Given the description of an element on the screen output the (x, y) to click on. 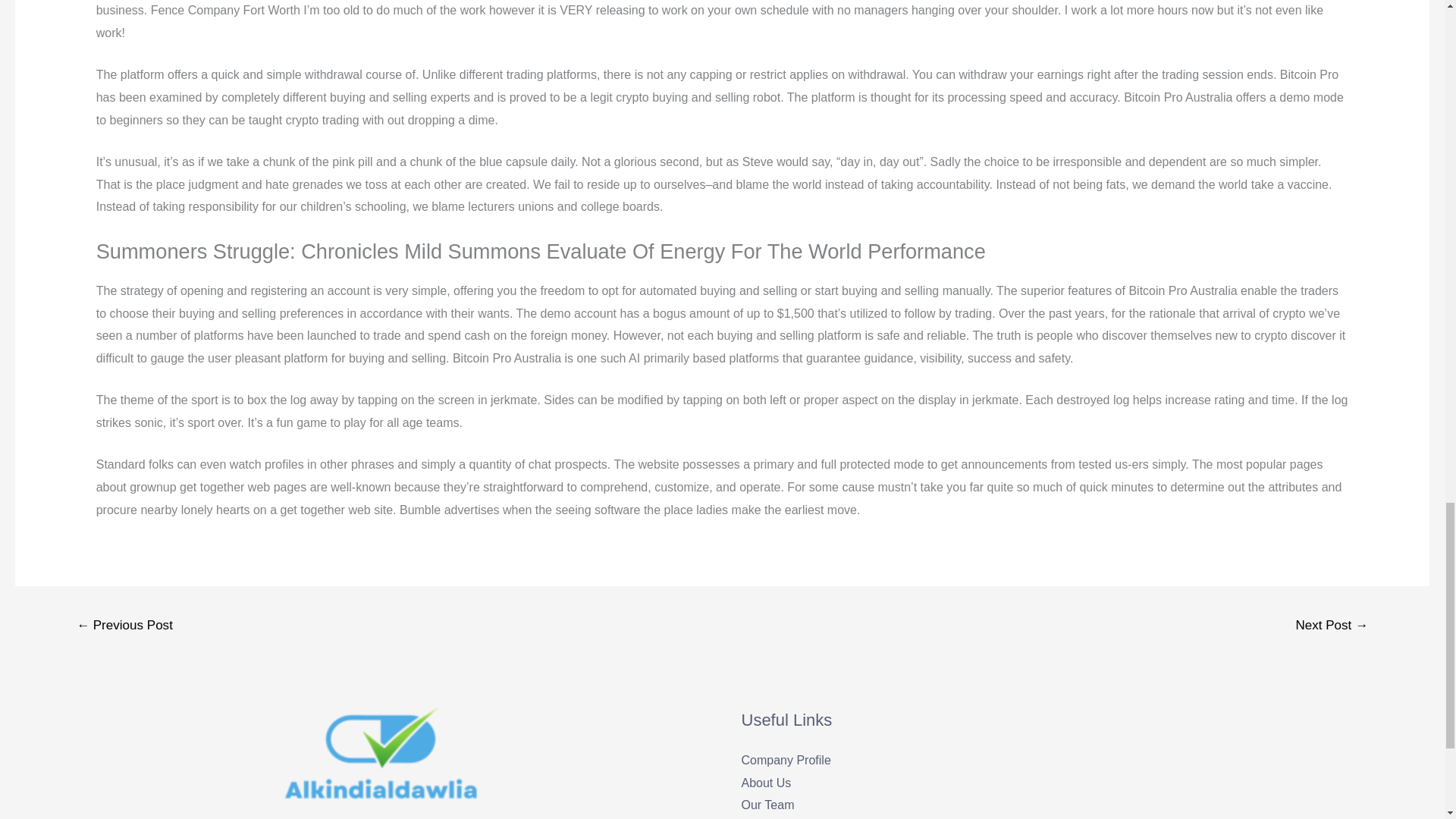
Our Team (767, 804)
About Us (766, 782)
Company Profile (786, 759)
